Given the description of an element on the screen output the (x, y) to click on. 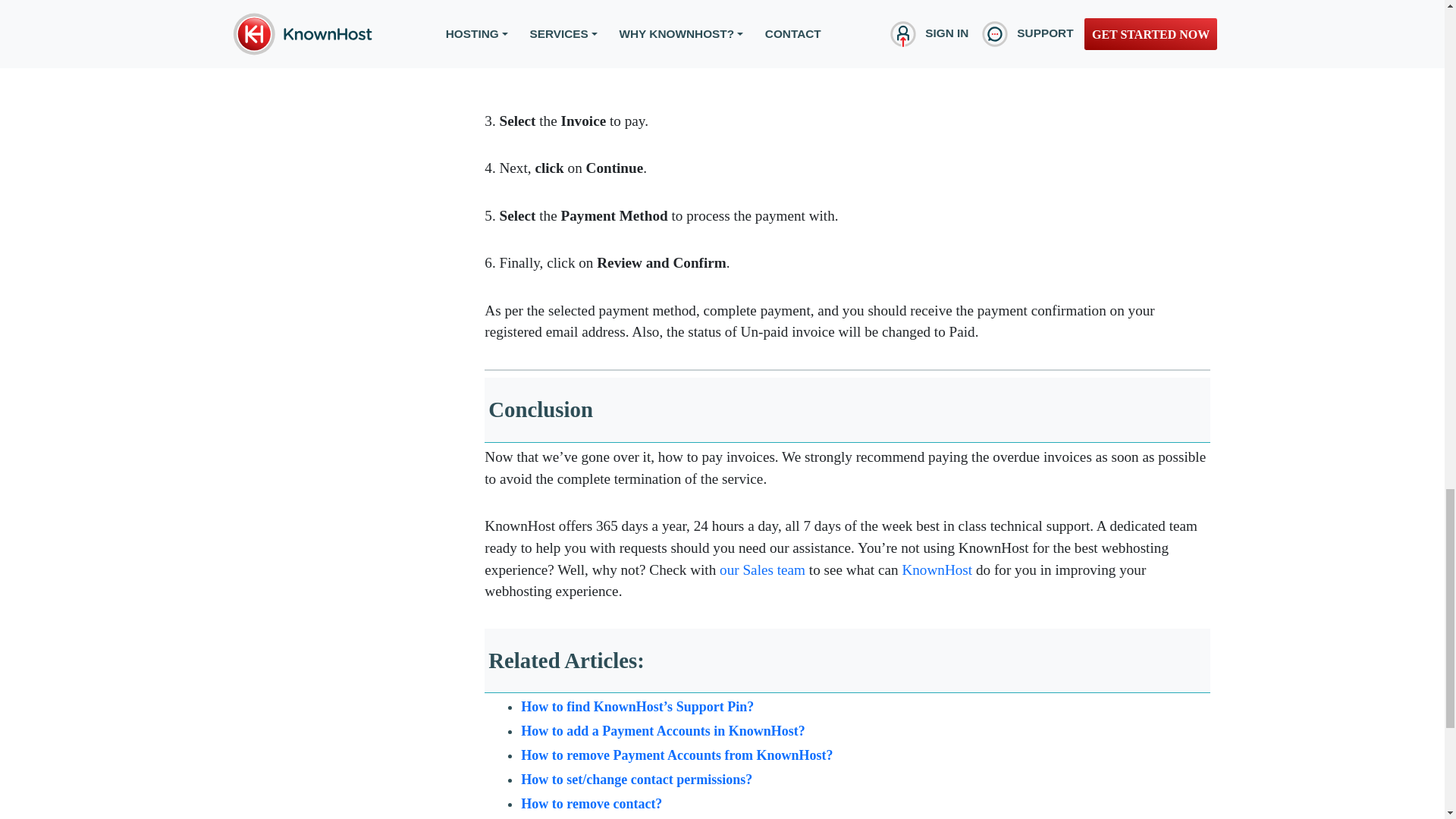
How to add a Payment Accounts in KnownHost? (663, 730)
How to remove Payment Accounts from KnownHost? (676, 754)
How to remove contact? (591, 803)
